Given the description of an element on the screen output the (x, y) to click on. 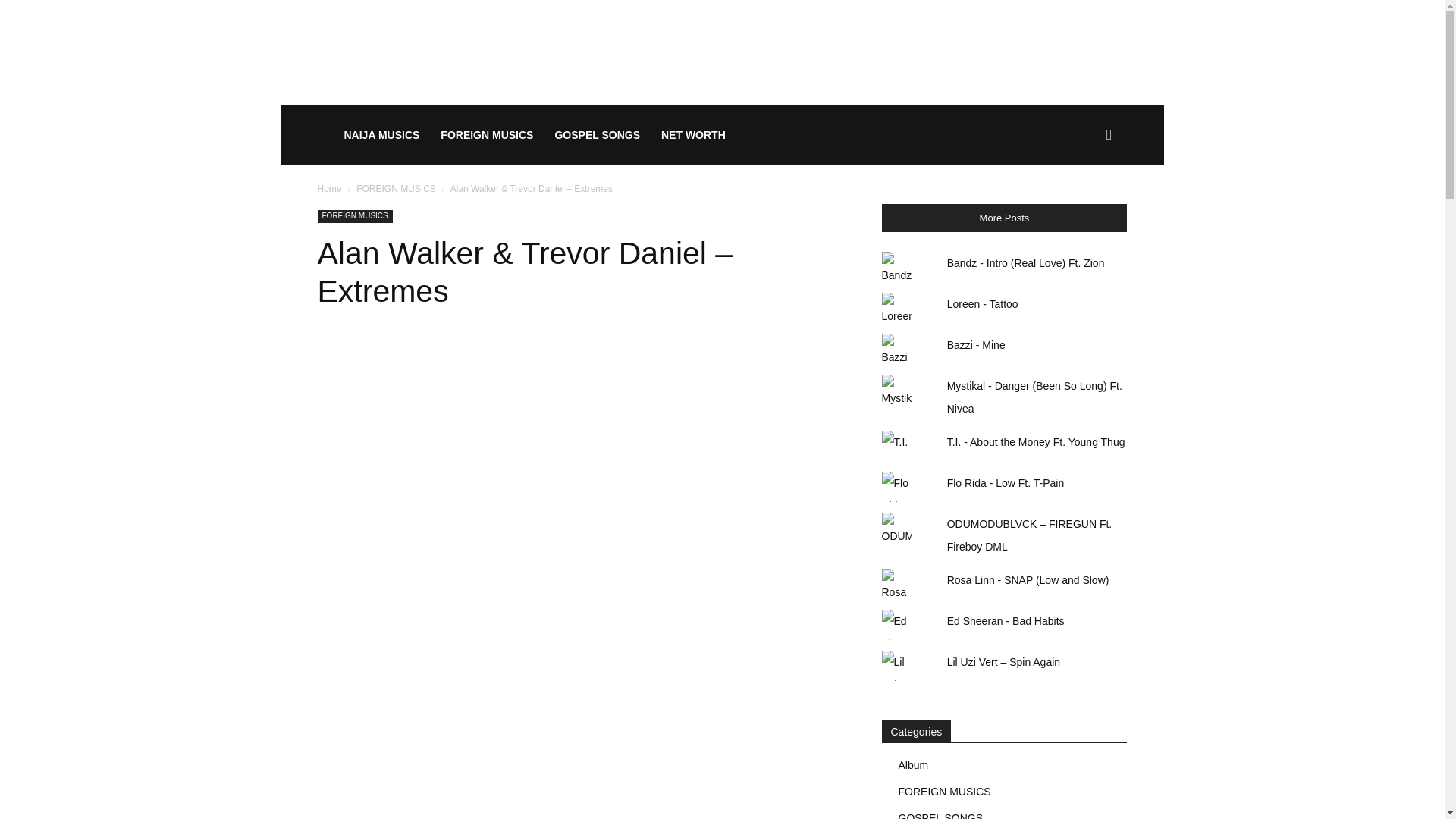
FOREIGN MUSICS (395, 188)
GOSPEL SONGS (596, 134)
FOREIGN MUSICS (354, 215)
NET WORTH (693, 134)
Home (328, 188)
Search (1085, 207)
View all posts in FOREIGN MUSICS (395, 188)
FOREIGN MUSICS (486, 134)
NAIJA MUSICS (381, 134)
